Given the description of an element on the screen output the (x, y) to click on. 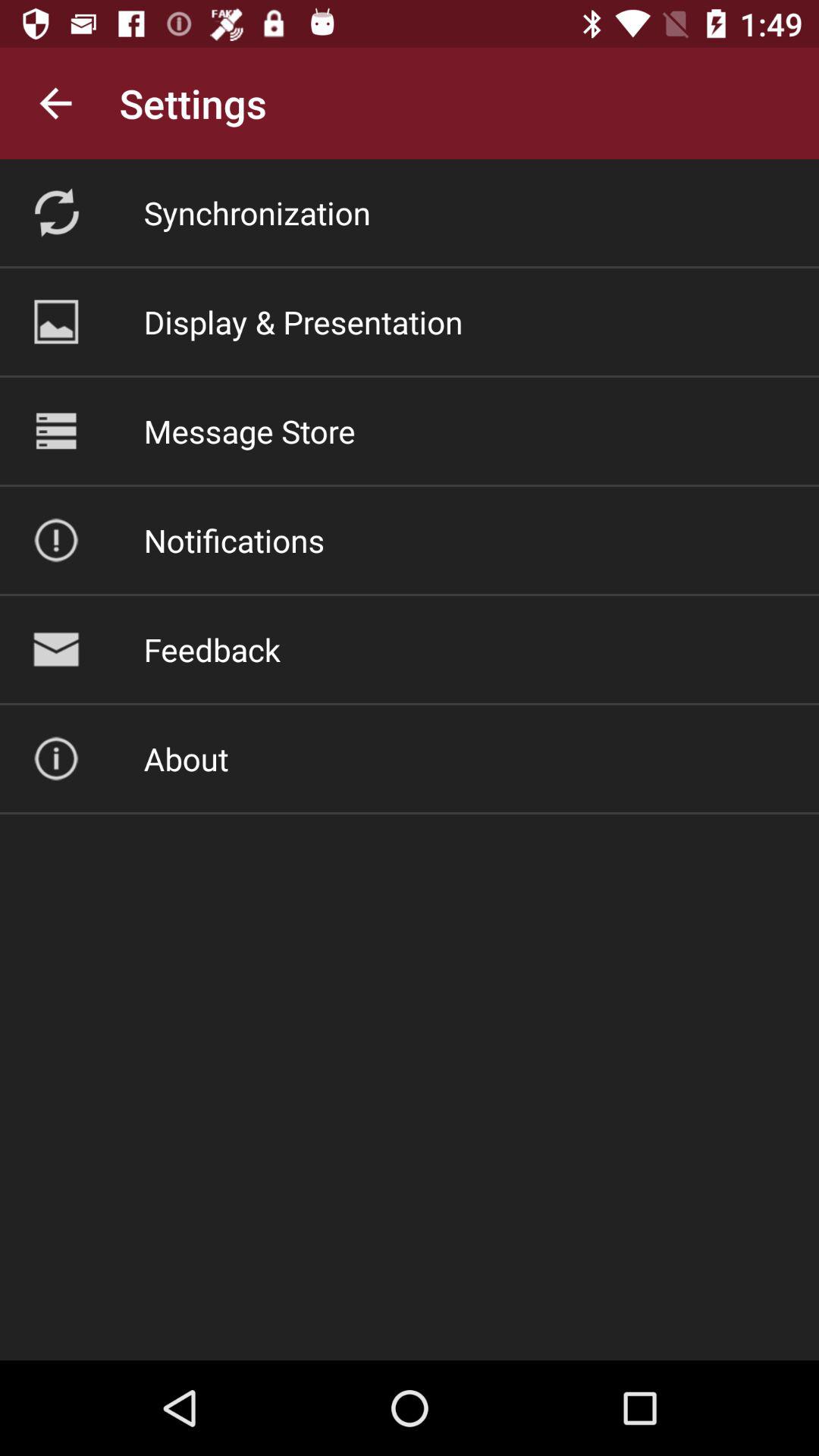
click icon above display & presentation item (256, 212)
